Given the description of an element on the screen output the (x, y) to click on. 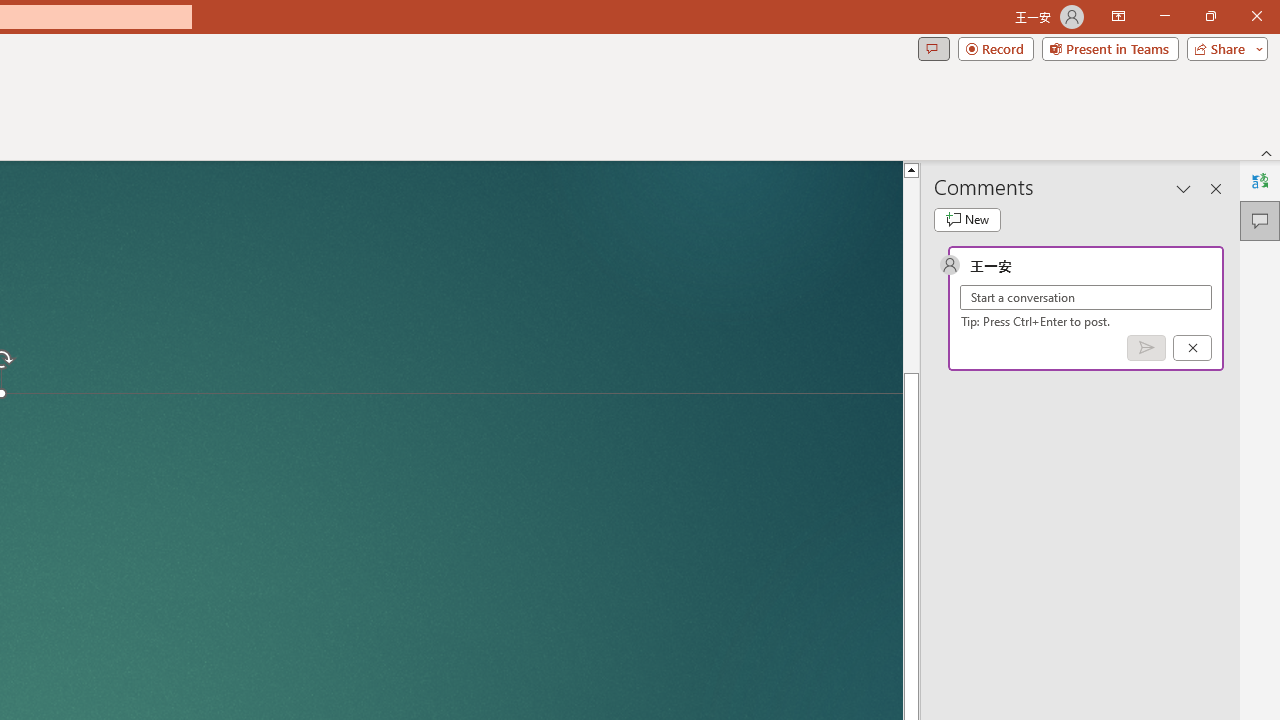
Start a conversation (1085, 297)
Cancel (1192, 347)
